Given the description of an element on the screen output the (x, y) to click on. 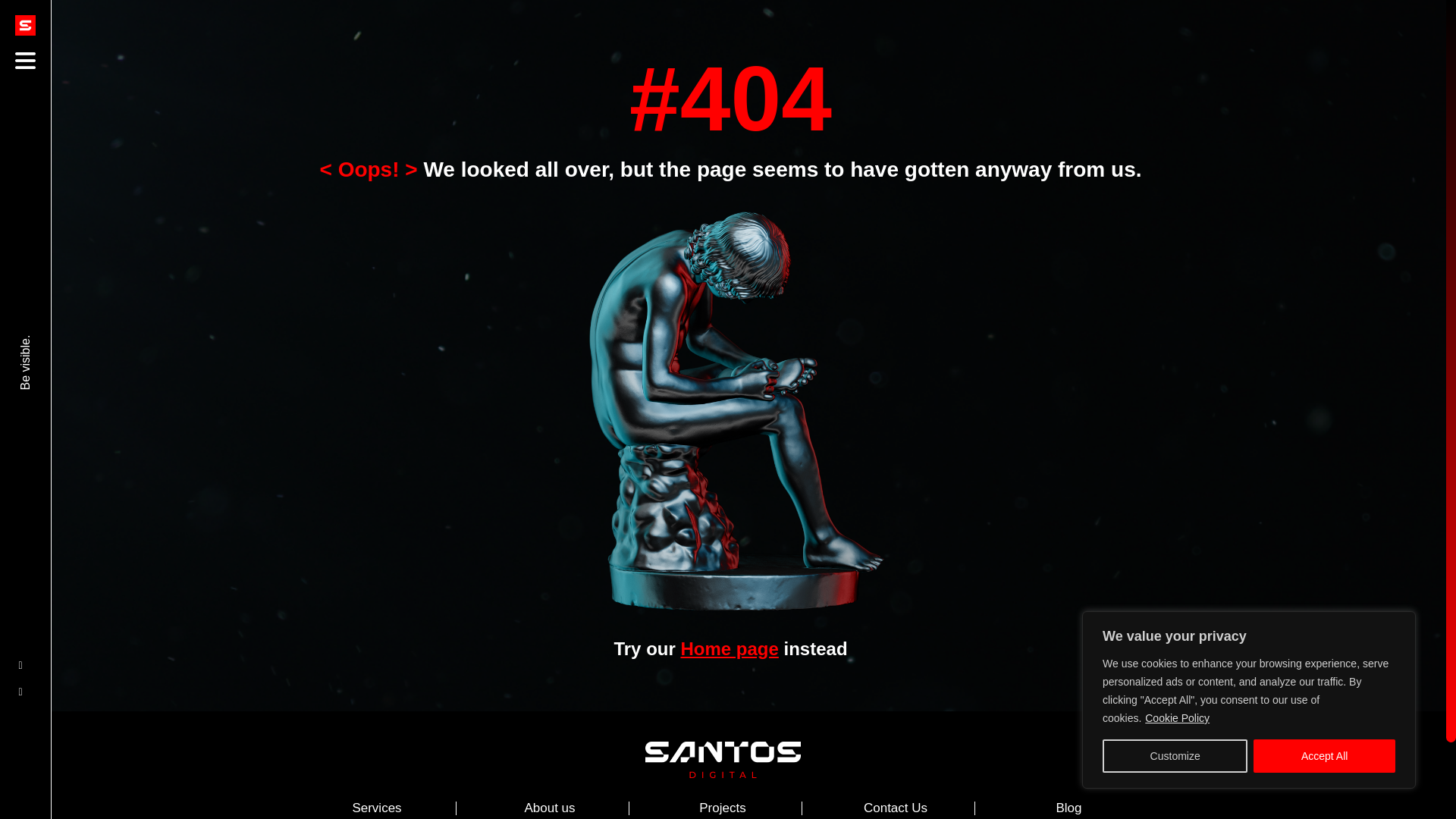
Contact Us (895, 807)
Projects (721, 807)
Cookie Policy (1176, 717)
Services (376, 807)
About us (549, 807)
Accept All (1323, 756)
Customize (1174, 756)
Home page (728, 648)
